Given the description of an element on the screen output the (x, y) to click on. 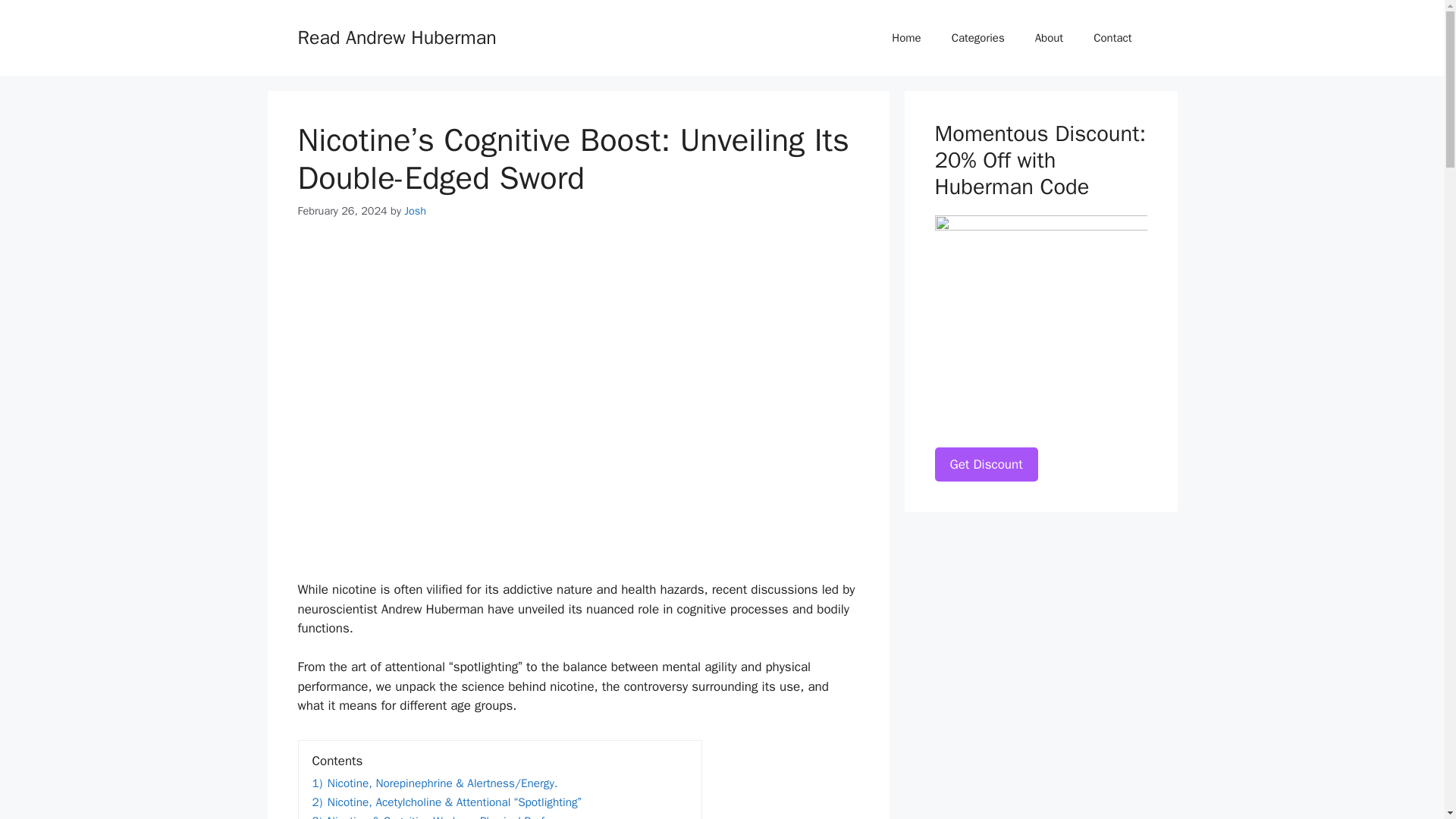
Read Andrew Huberman (396, 37)
Josh (415, 210)
Contact (1112, 37)
About (1049, 37)
Categories (978, 37)
View all posts by Josh (415, 210)
Get Discount (985, 464)
Home (906, 37)
